Given the description of an element on the screen output the (x, y) to click on. 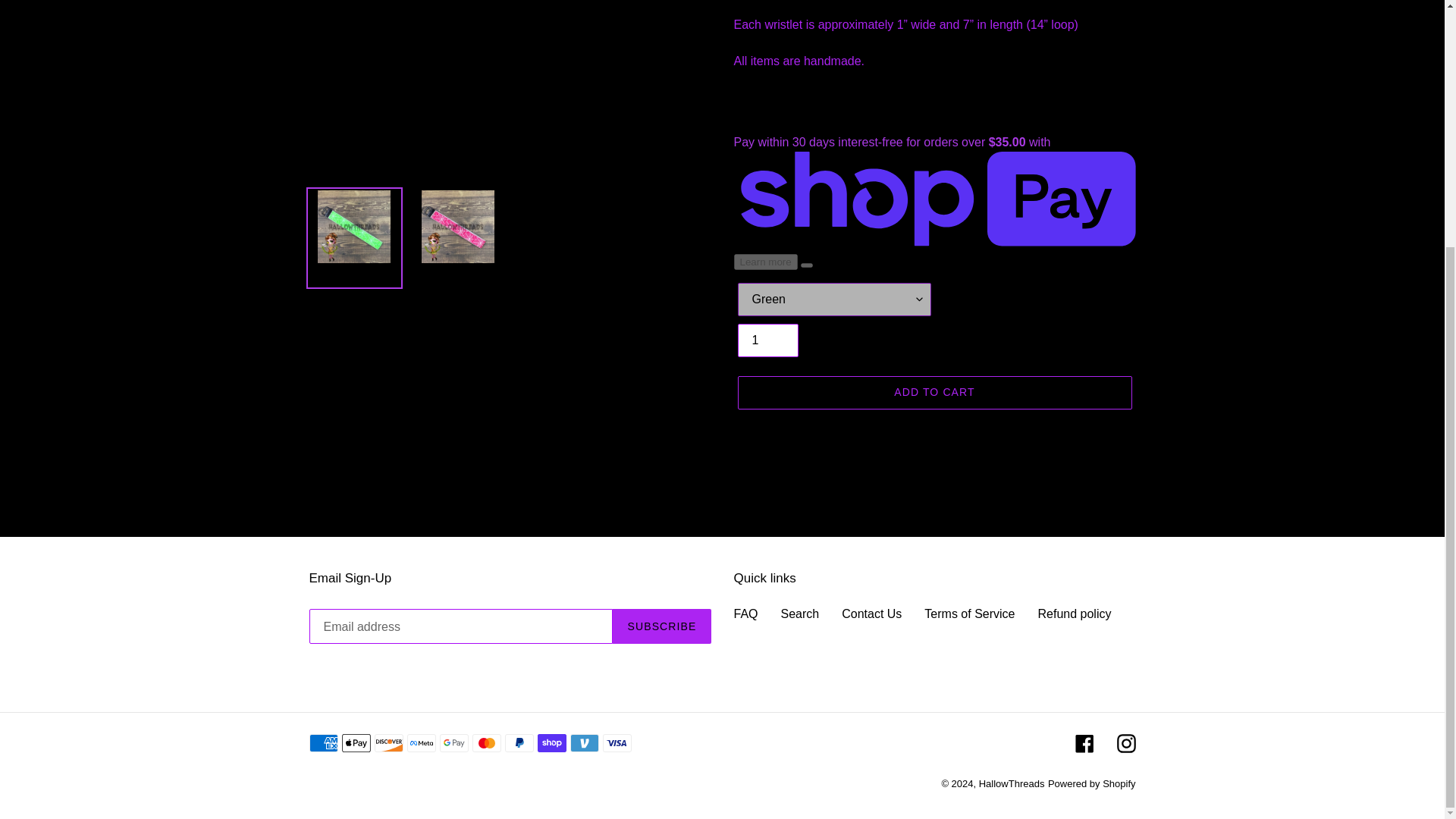
1 (766, 340)
